Given the description of an element on the screen output the (x, y) to click on. 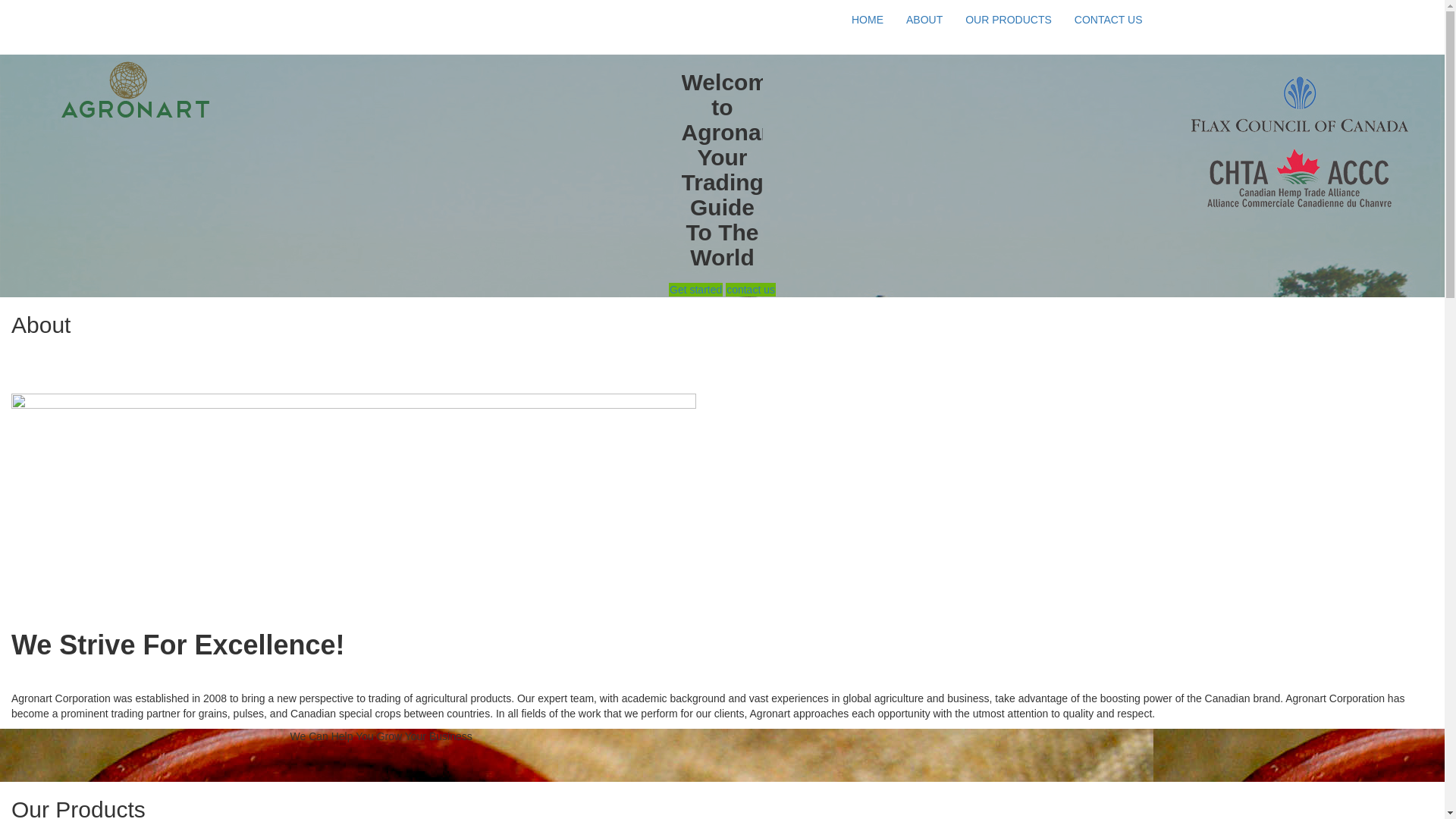
HOME Element type: text (867, 19)
contact us Element type: text (750, 289)
OUR PRODUCTS Element type: text (1008, 19)
ABOUT Element type: text (923, 19)
CONTACT US Element type: text (1108, 19)
Get started Element type: text (695, 289)
